Given the description of an element on the screen output the (x, y) to click on. 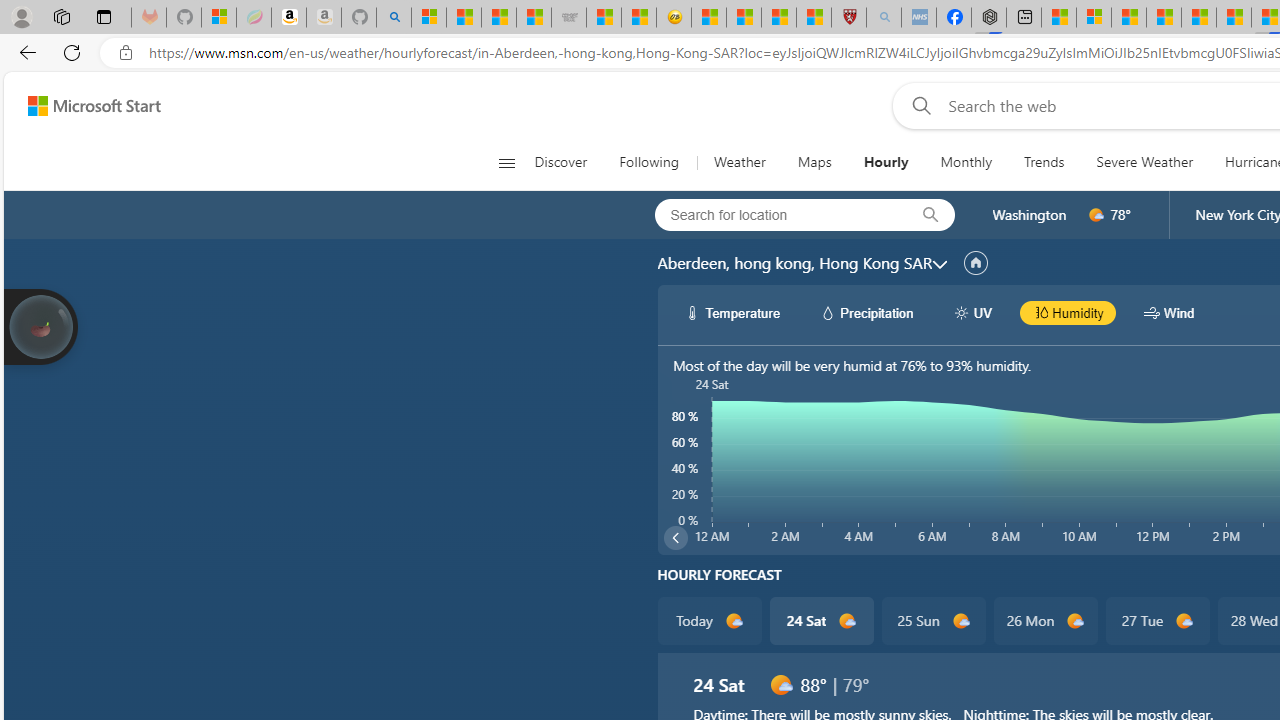
Monthly (966, 162)
Aberdeen, hong kong, Hong Kong SAR (794, 263)
Search for location (775, 214)
hourlyChart/precipitationWhite Precipitation (866, 312)
24 Sat d1000 (821, 620)
locationName/setHomeLocation (976, 263)
hourlyChart/uvWhite UV (972, 312)
